Given the description of an element on the screen output the (x, y) to click on. 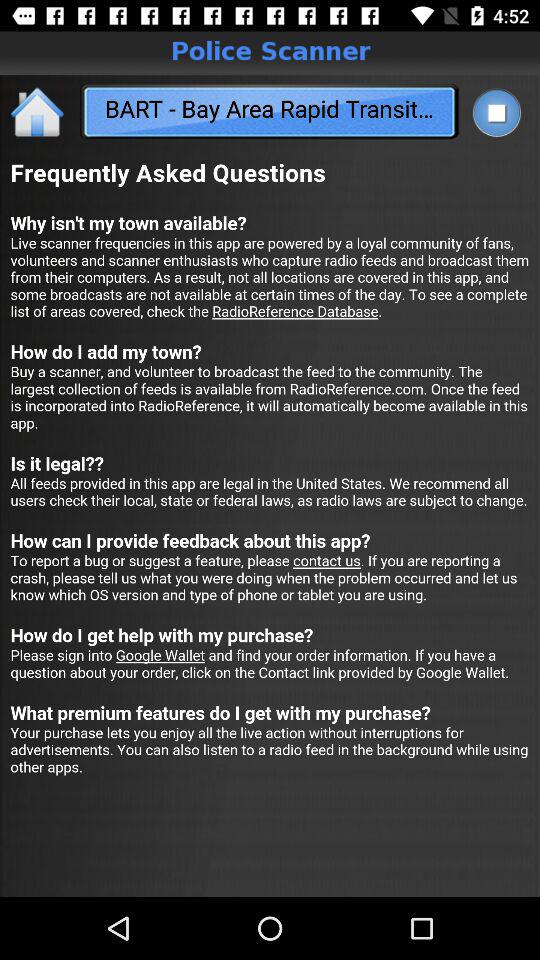
go to principal menu (38, 111)
